Given the description of an element on the screen output the (x, y) to click on. 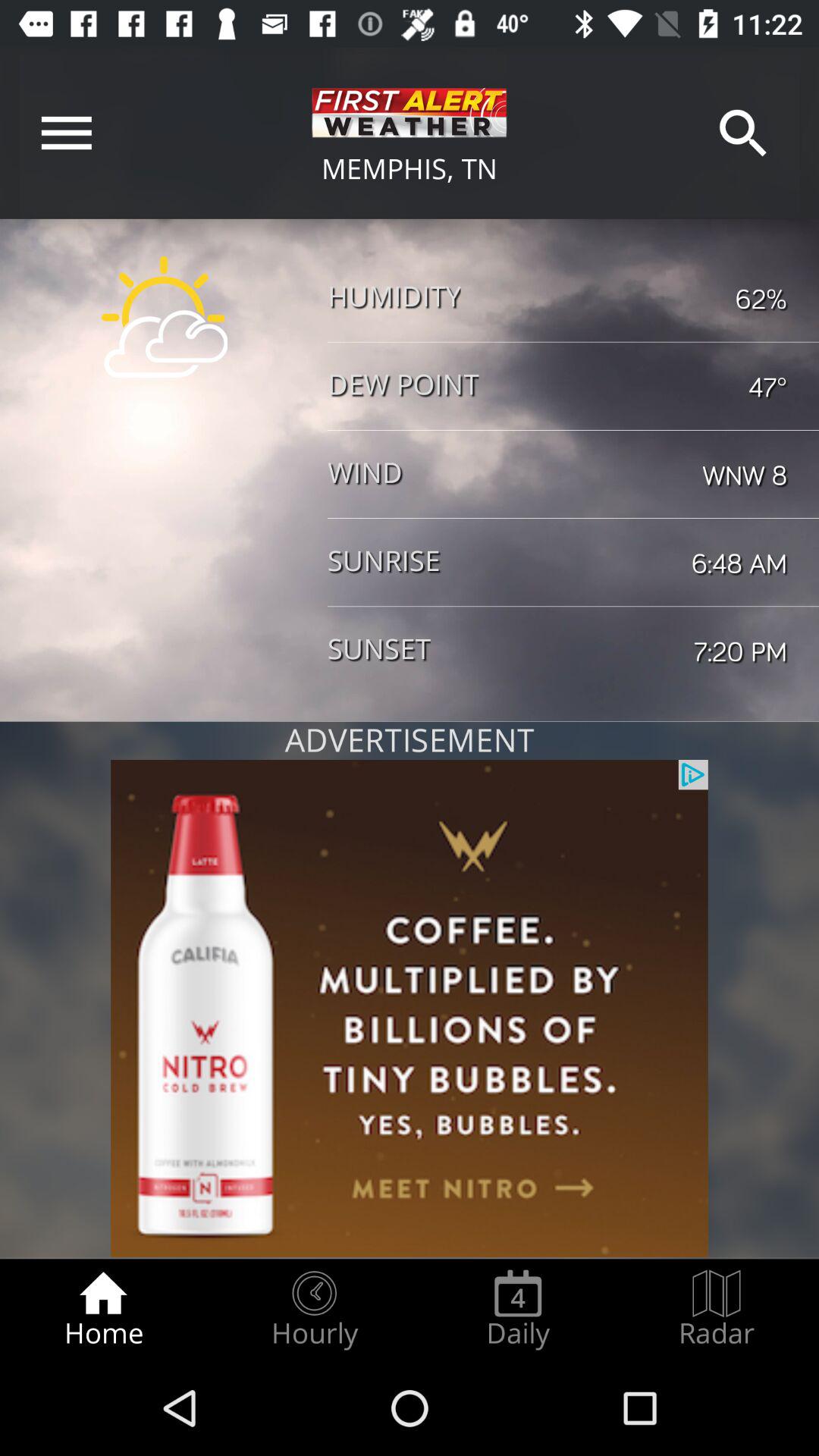
select item next to daily radio button (716, 1309)
